Given the description of an element on the screen output the (x, y) to click on. 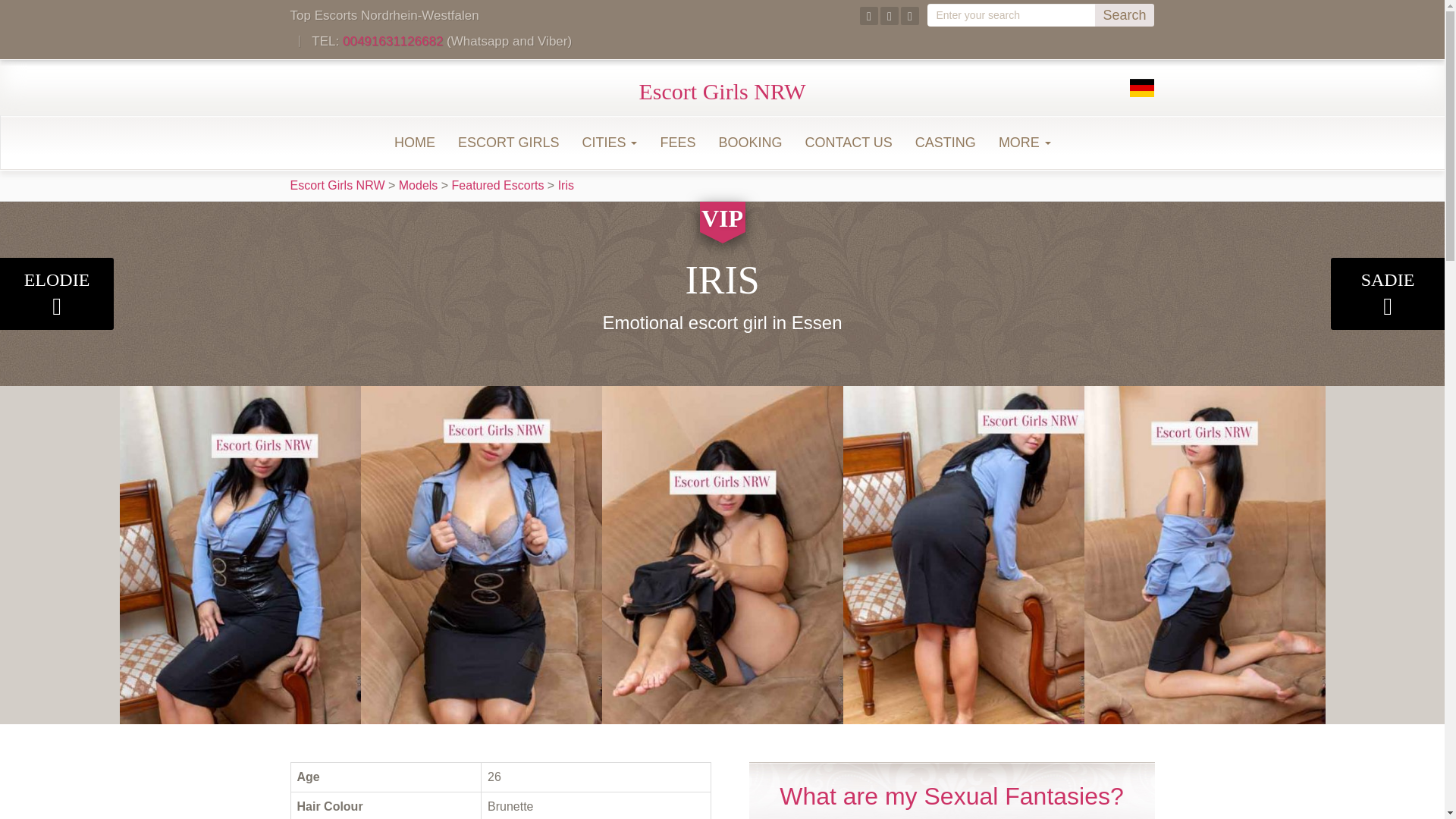
Escort Girls (508, 142)
HOME (414, 142)
ESCORT GIRLS (508, 142)
Search (1123, 15)
CITIES (608, 142)
Escort Girls NRW (721, 91)
Deutsch (1141, 87)
Cities (608, 142)
Home (414, 142)
00491631126682 (392, 41)
